Given the description of an element on the screen output the (x, y) to click on. 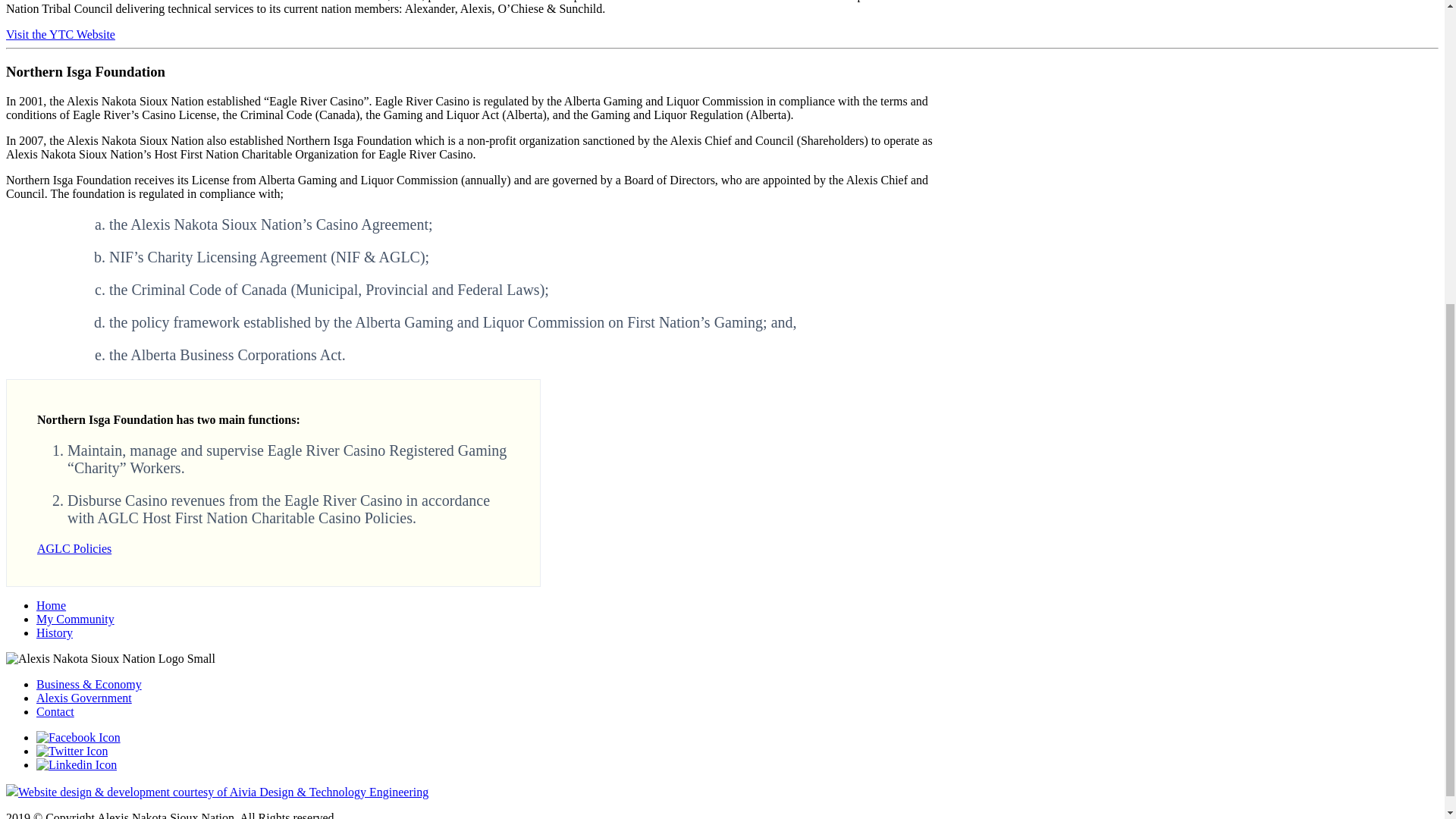
My Community (75, 618)
Visit the YTC Website (60, 33)
Alexis Government (84, 697)
History (54, 632)
Contact (55, 711)
AGLC Policies (74, 548)
Home (50, 604)
